Given the description of an element on the screen output the (x, y) to click on. 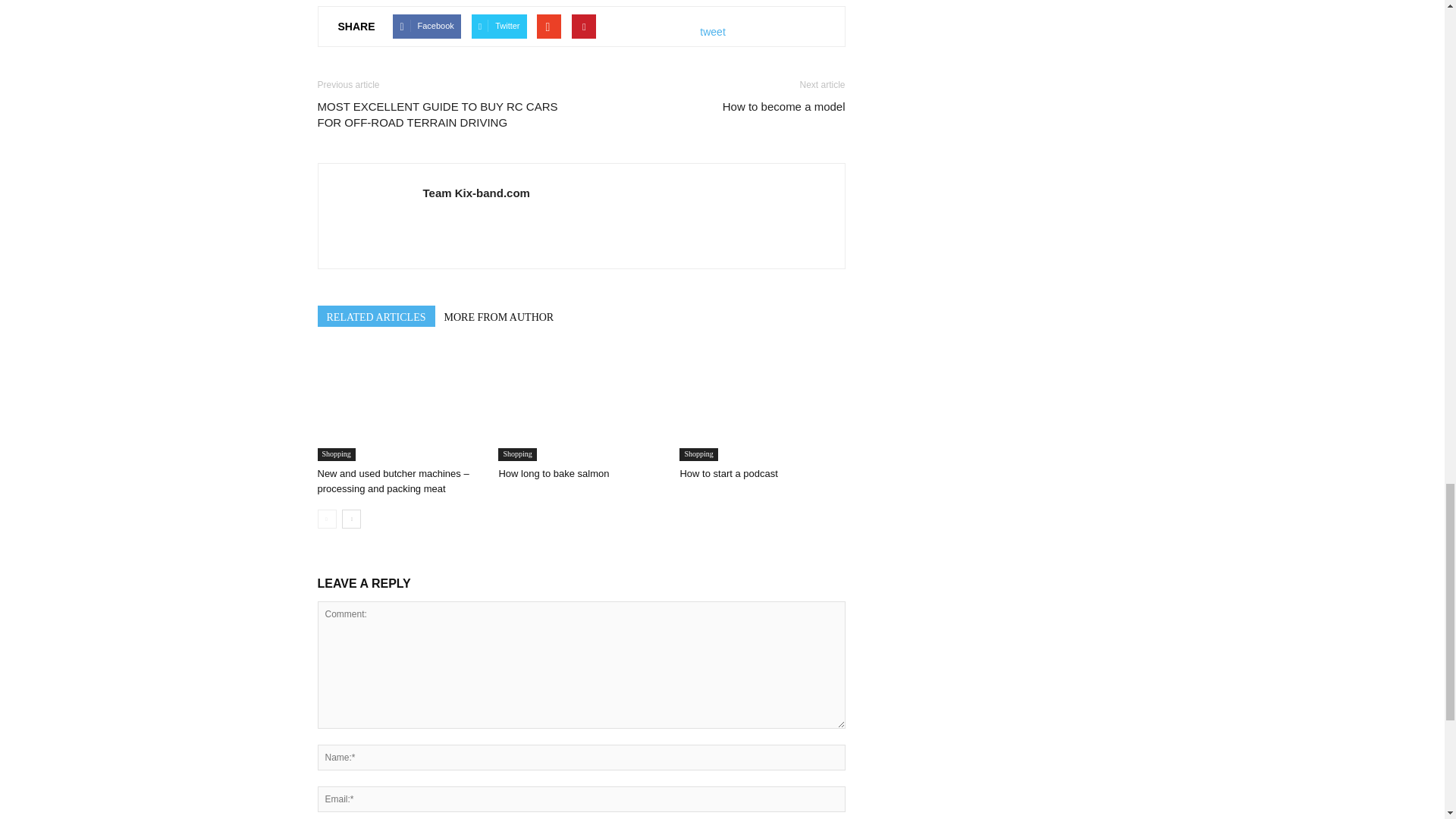
How to start a podcast (761, 404)
How long to bake salmon (580, 404)
How to start a podcast (728, 473)
How long to bake salmon (552, 473)
